Given the description of an element on the screen output the (x, y) to click on. 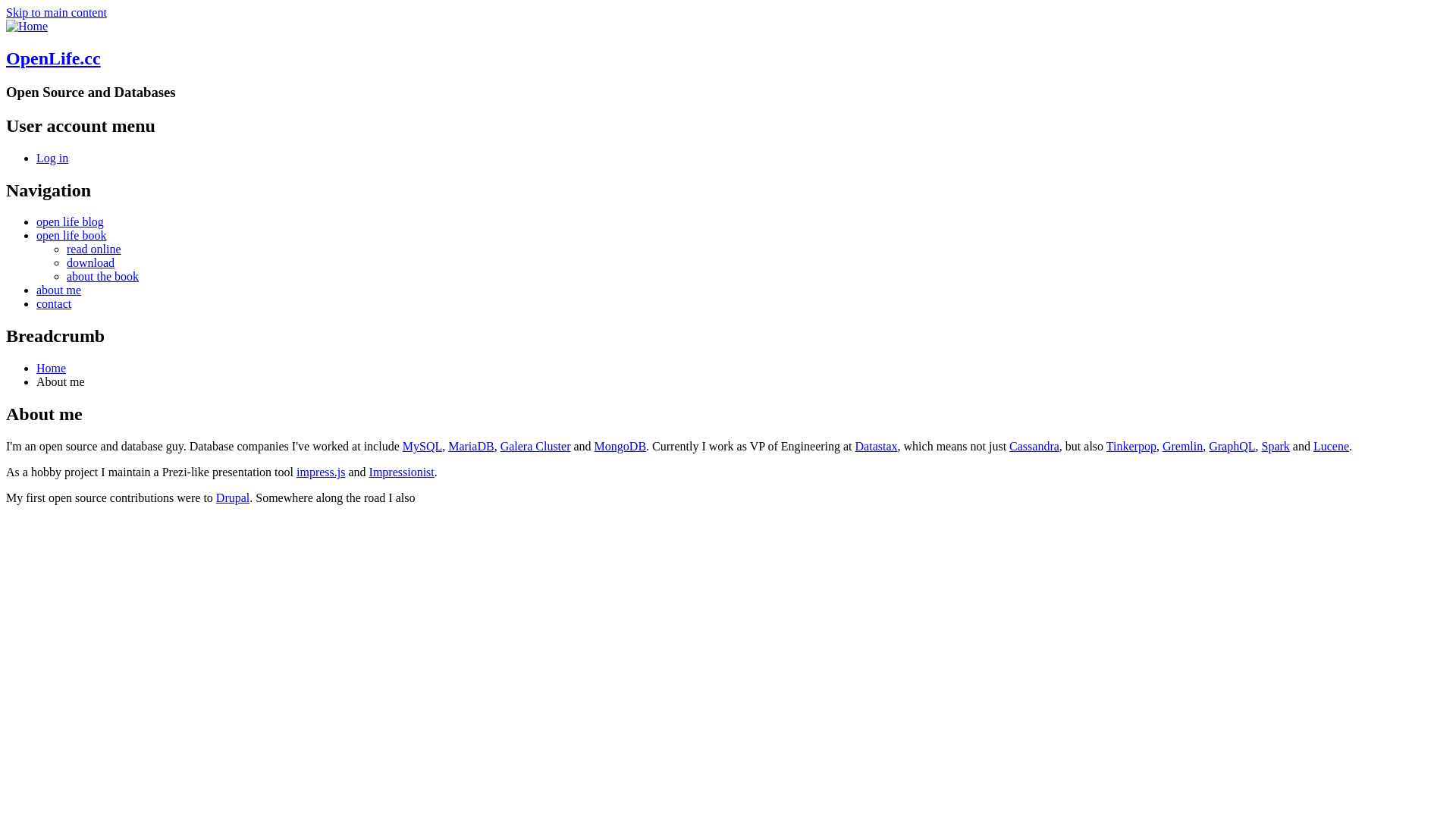
about the book Element type: text (102, 275)
Spark Element type: text (1275, 445)
Tinkerpop Element type: text (1131, 445)
Impressionist Element type: text (401, 471)
MariaDB Element type: text (470, 445)
Home Element type: hover (26, 25)
MongoDB Element type: text (620, 445)
Gremlin Element type: text (1182, 445)
OpenLife.cc Element type: text (53, 58)
about me Element type: text (58, 289)
MySQL Element type: text (422, 445)
contact Element type: text (53, 303)
open life blog Element type: text (69, 221)
Lucene Element type: text (1331, 445)
open life book Element type: text (71, 235)
download Element type: text (90, 262)
Home Element type: text (50, 367)
Cassandra Element type: text (1034, 445)
impress.js Element type: text (320, 471)
Drupal Element type: text (232, 497)
Datastax Element type: text (876, 445)
Log in Element type: text (52, 157)
Galera Cluster Element type: text (535, 445)
Skip to main content Element type: text (56, 12)
GraphQL Element type: text (1231, 445)
read online Element type: text (93, 248)
